Given the description of an element on the screen output the (x, y) to click on. 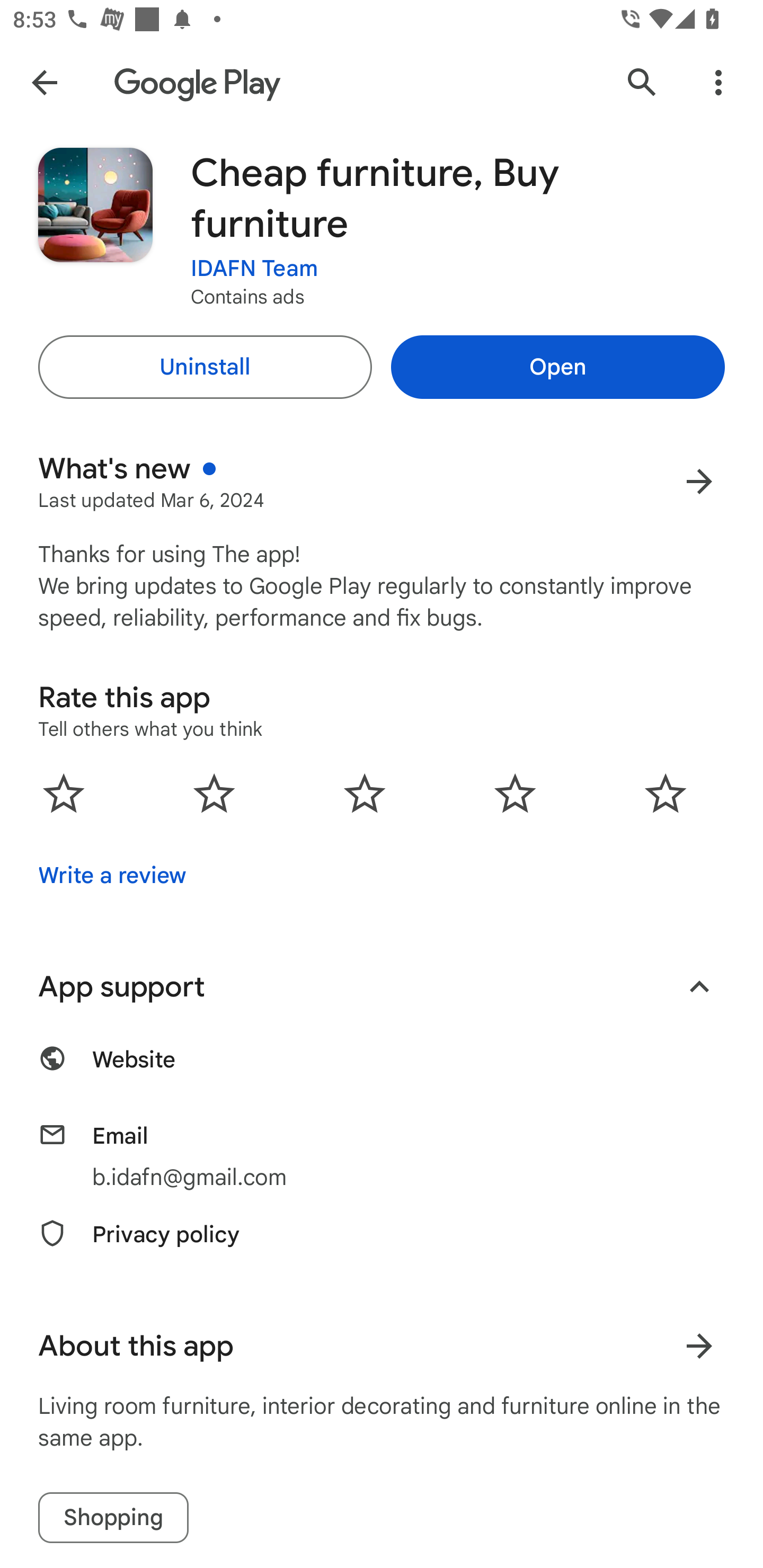
Navigate up (44, 81)
Search Google Play (642, 81)
More Options (718, 81)
IDAFN Team (254, 268)
Uninstall (205, 366)
Open (557, 366)
More results for What's new (699, 481)
0.0 (364, 792)
Write a review (112, 875)
App support Collapse (381, 986)
Collapse (699, 986)
Website (381, 1069)
Email b.idafn@gmail.com (381, 1156)
Privacy policy (381, 1243)
About this app Learn more About this app (381, 1345)
Learn more About this app (699, 1345)
Shopping tag (113, 1517)
